Given the description of an element on the screen output the (x, y) to click on. 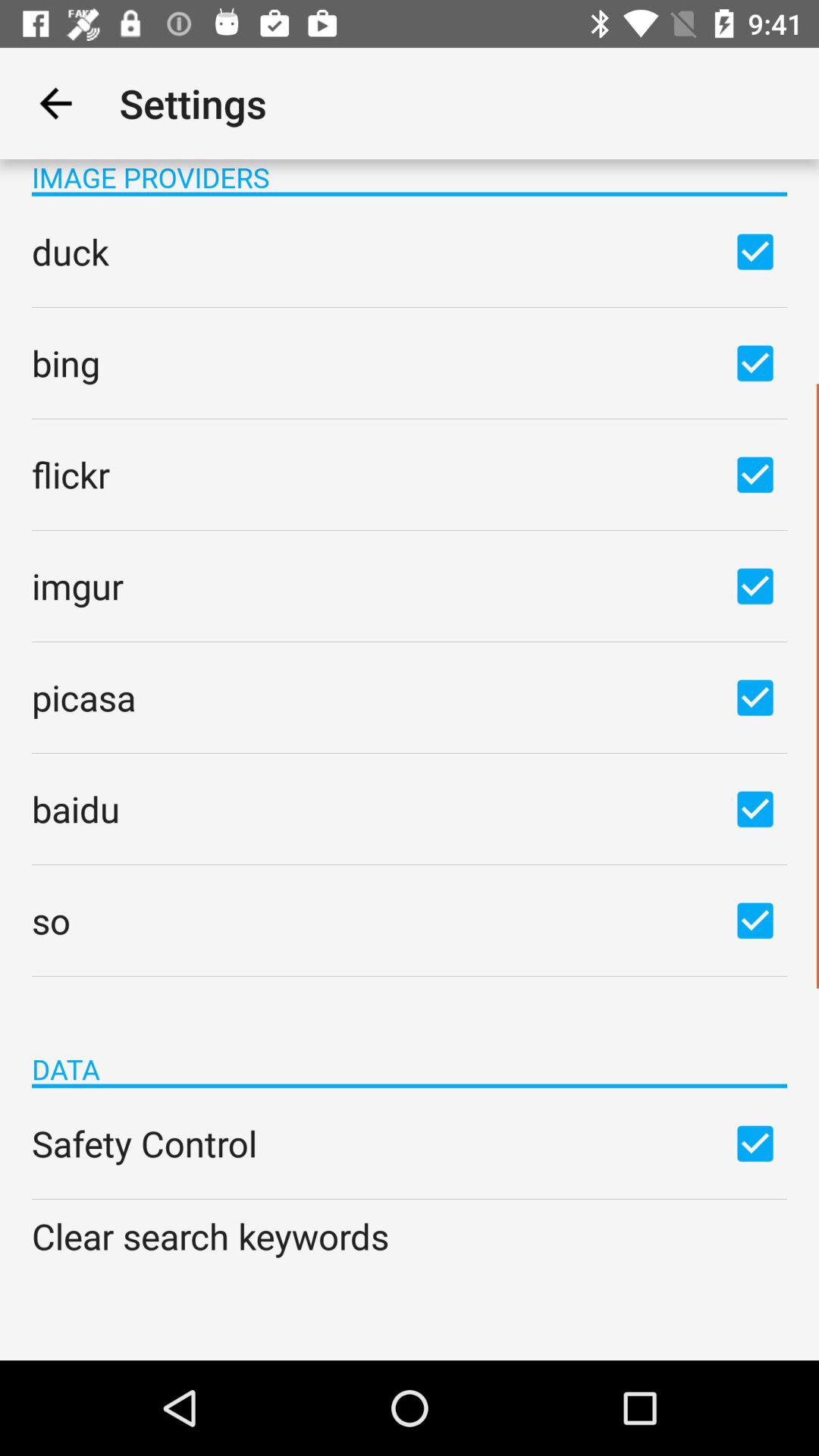
duck option checkbox (755, 251)
